Given the description of an element on the screen output the (x, y) to click on. 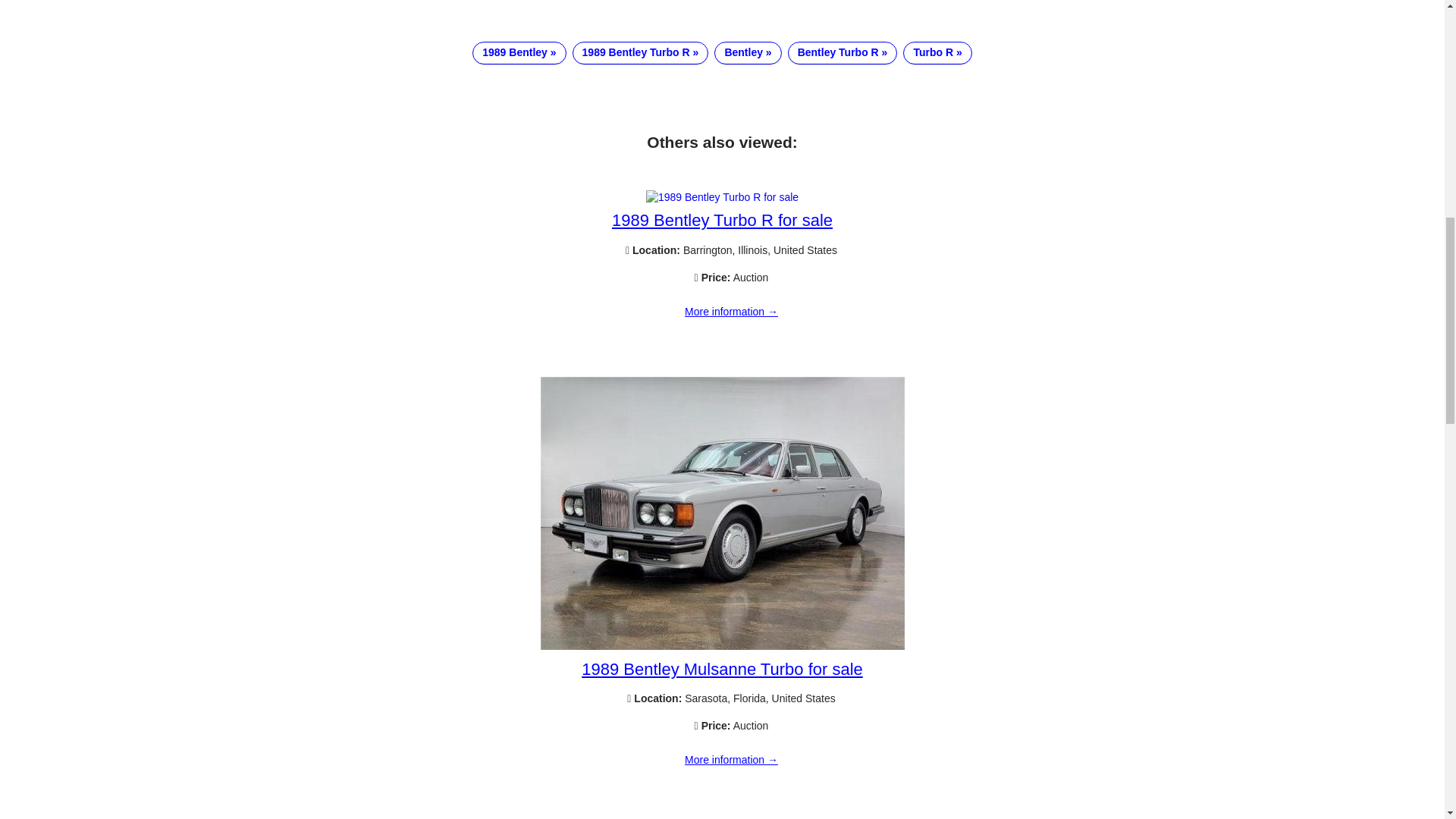
1989 Bentley Turbo R (640, 52)
1989 Bentley Mulsanne Turbo for sale (731, 760)
Turbo R (936, 52)
Bentley (747, 52)
1989 Bentley Turbo R for sale (731, 312)
1989 Bentley Mulsanne Turbo for sale (721, 669)
1989 Bentley (518, 52)
1989 Bentley Turbo R for sale (721, 220)
1989 Bentley Mulsanne Turbo for sale (722, 645)
1989 Bentley Turbo R for sale (721, 196)
Bentley Turbo R (842, 52)
